Given the description of an element on the screen output the (x, y) to click on. 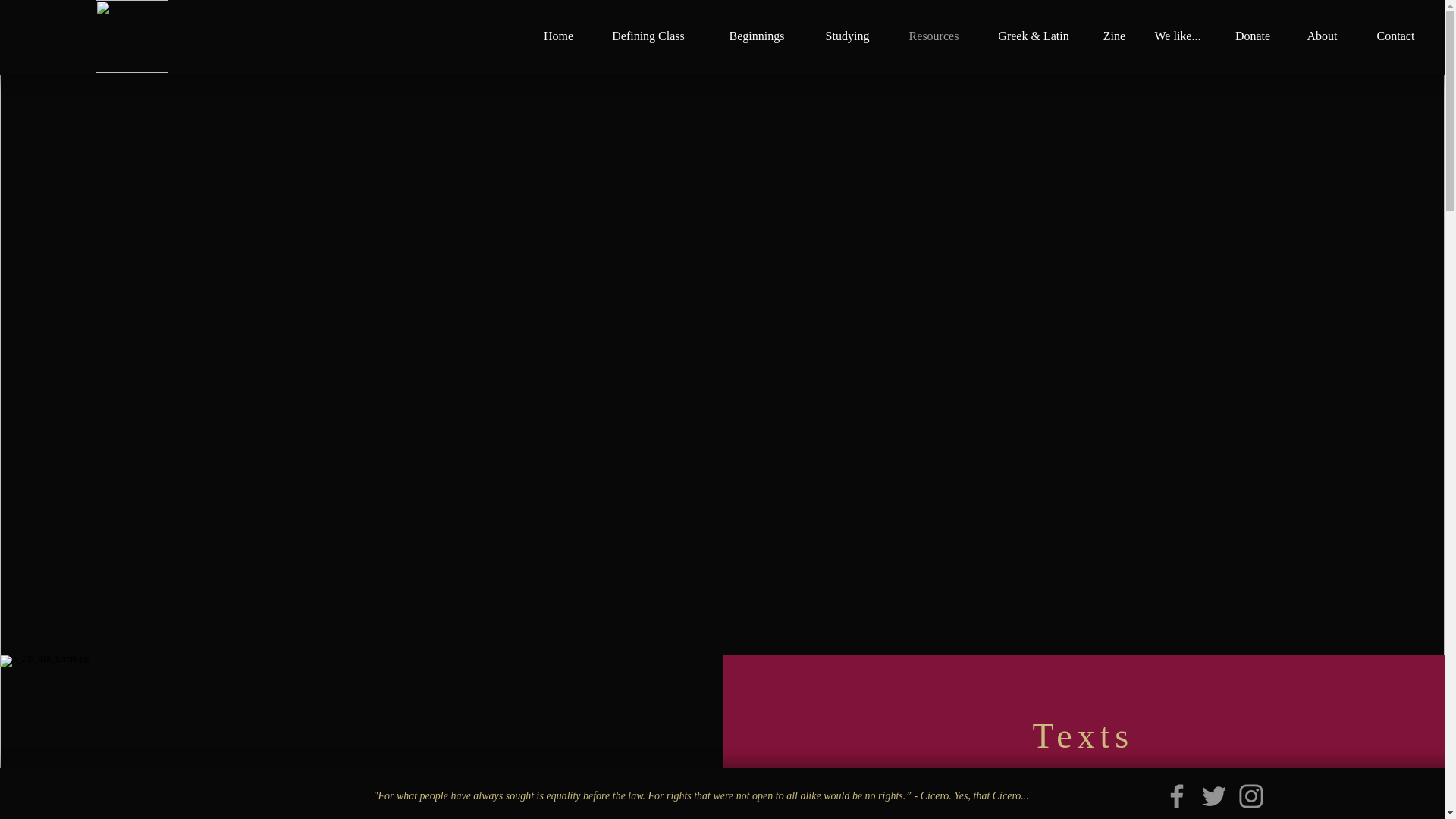
Resources (933, 35)
Studying (847, 35)
About (1322, 35)
Beginnings (756, 35)
Zine (1114, 35)
CC3EC7D6-25CB-4F12-9F1C-D445AFD1E58B.jpe (132, 36)
Home (558, 35)
We like... (1177, 35)
Defining Class (647, 35)
Donate (1252, 35)
